Given the description of an element on the screen output the (x, y) to click on. 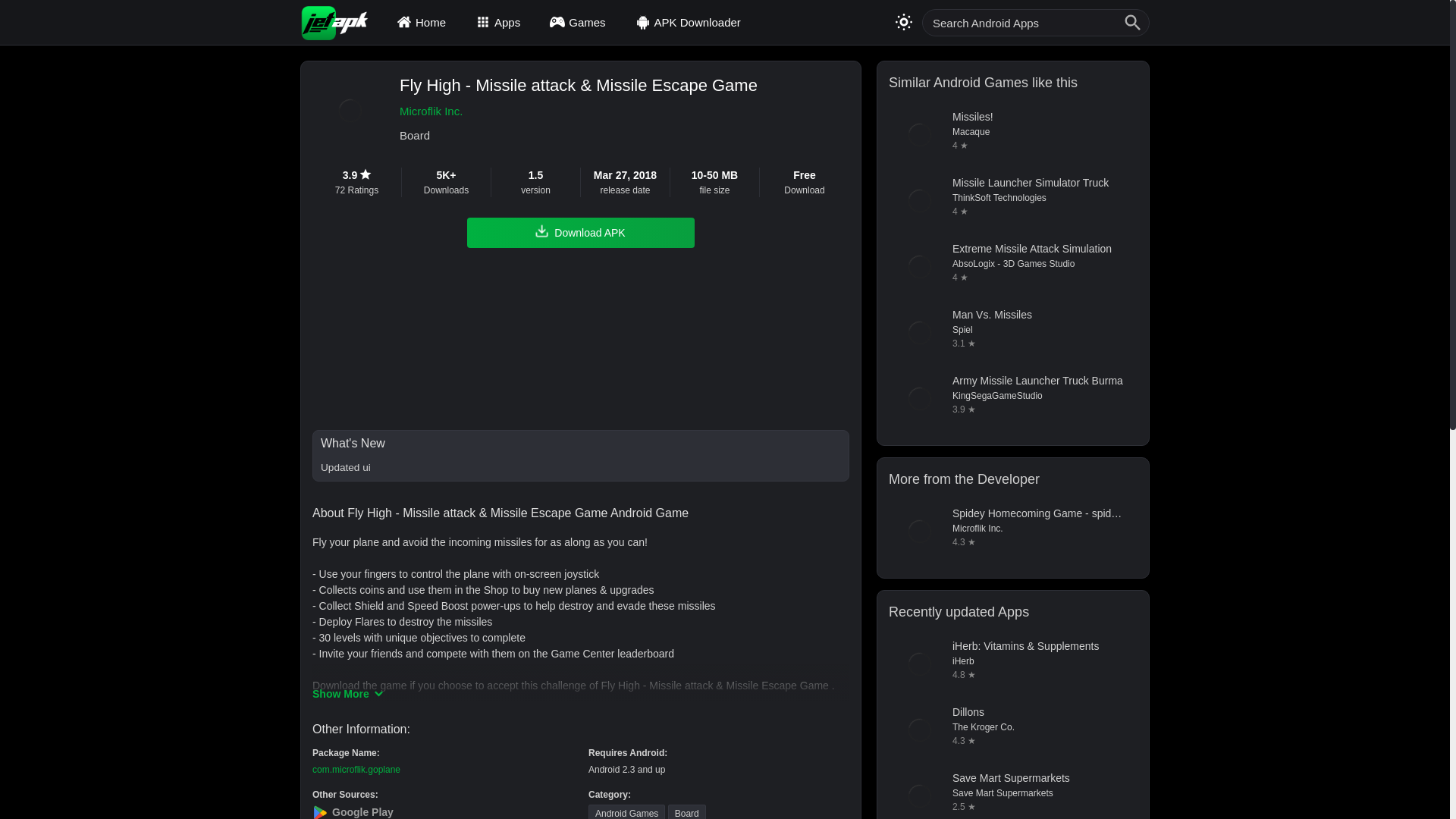
Games (579, 22)
Missiles! 1.36 Android APK (1012, 135)
Army Missile Launcher Truck Burma 1.5 Android APK (1012, 398)
Apps (499, 22)
com.microflik.goplane (356, 769)
Extreme Missile Attack Simulation 1.0 Android APK (1012, 266)
Board (577, 135)
Board (687, 811)
Android Games (626, 811)
Missile Launcher Simulator Truck 1.0 Android APK (1012, 200)
